Given the description of an element on the screen output the (x, y) to click on. 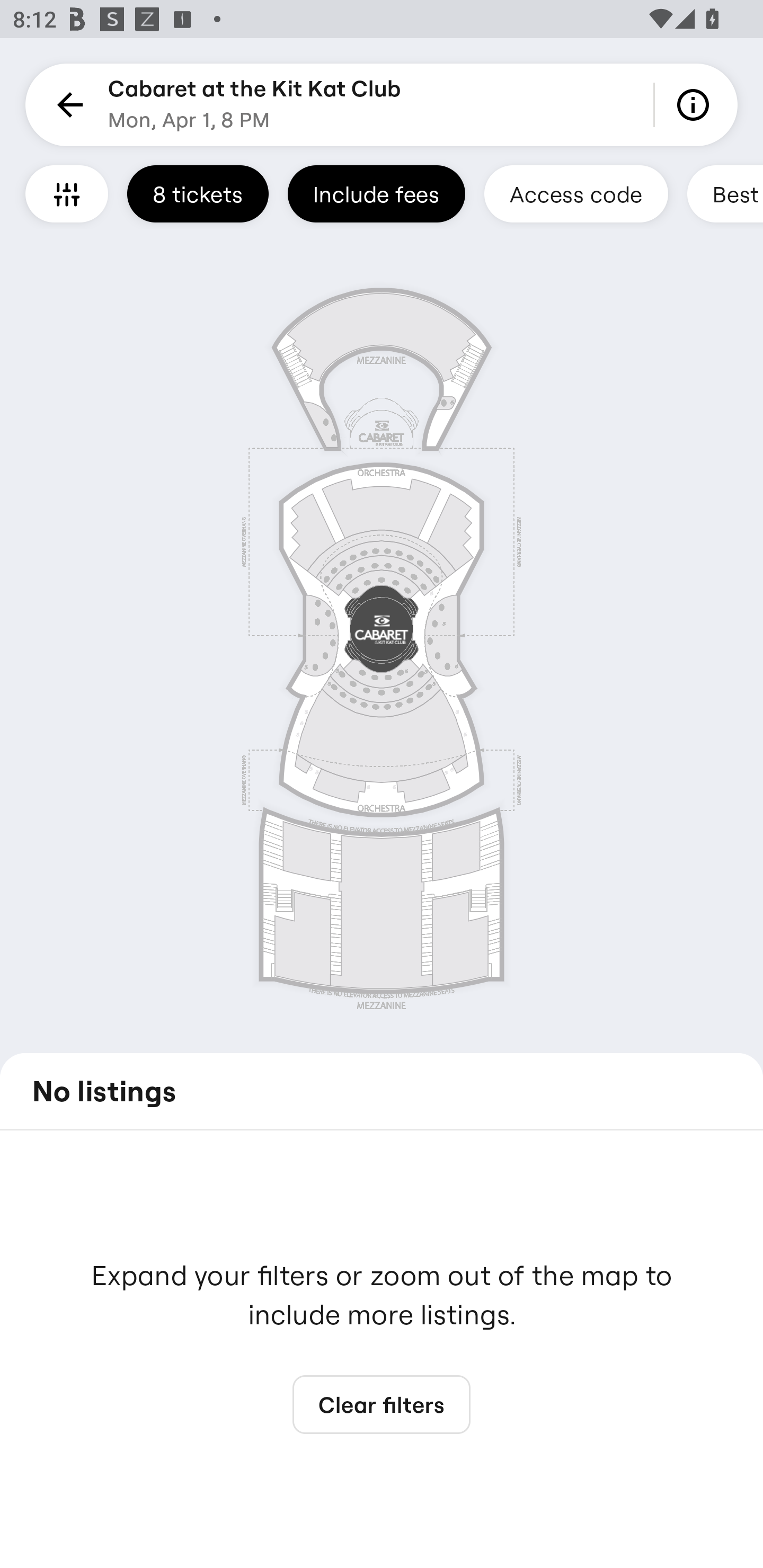
Back (66, 104)
Cabaret at the Kit Kat Club Mon, Apr 1, 8 PM (254, 104)
Info (695, 104)
Filters and Accessible Seating (66, 193)
8 tickets (197, 193)
Include fees (376, 193)
Access code (576, 193)
Clear filters (381, 1404)
